Given the description of an element on the screen output the (x, y) to click on. 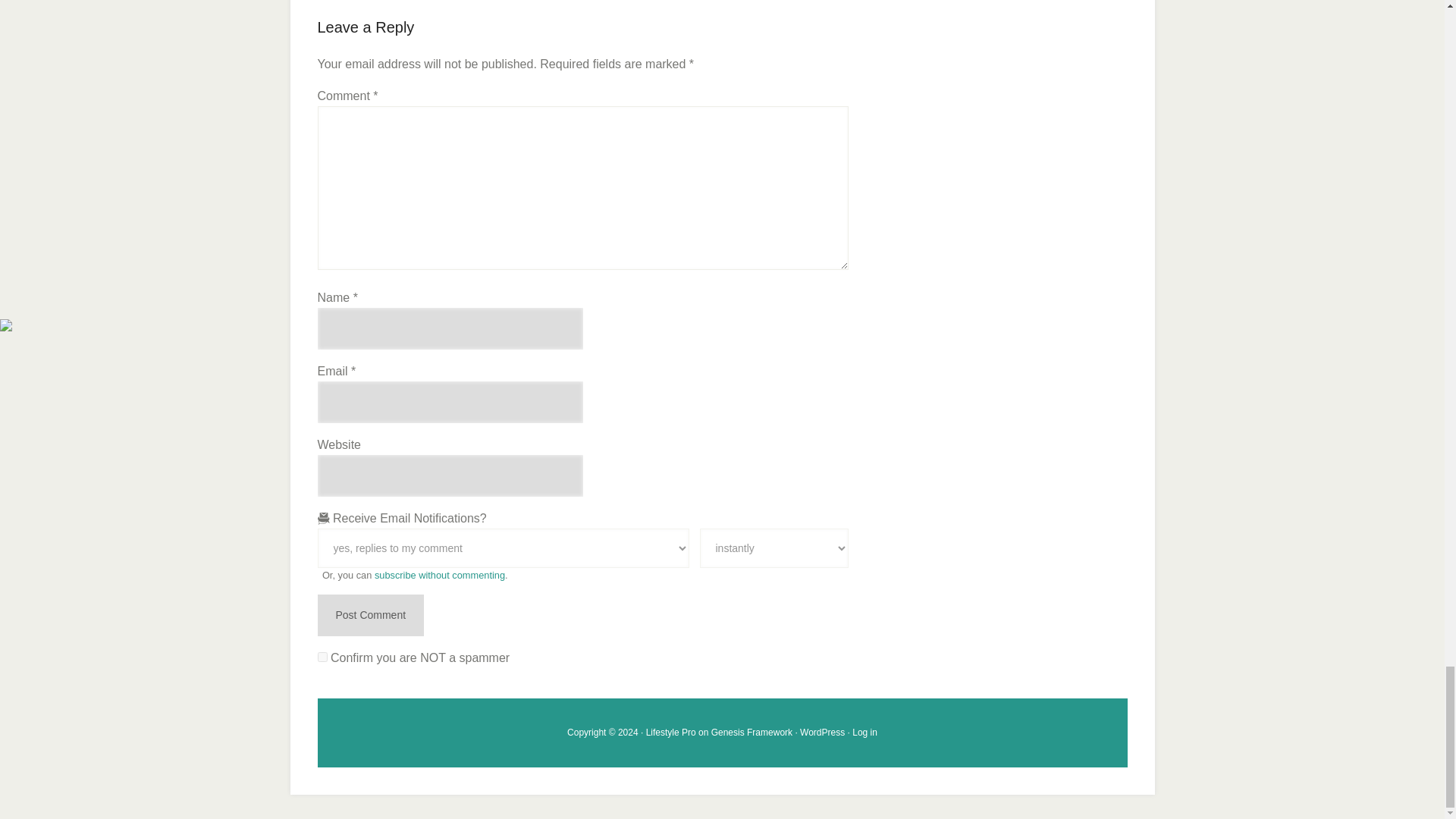
Notify Me (772, 548)
Post Comment (370, 615)
on (321, 656)
Post Comment (370, 615)
subscribe without commenting (439, 574)
Receive Notifications? (502, 548)
